Given the description of an element on the screen output the (x, y) to click on. 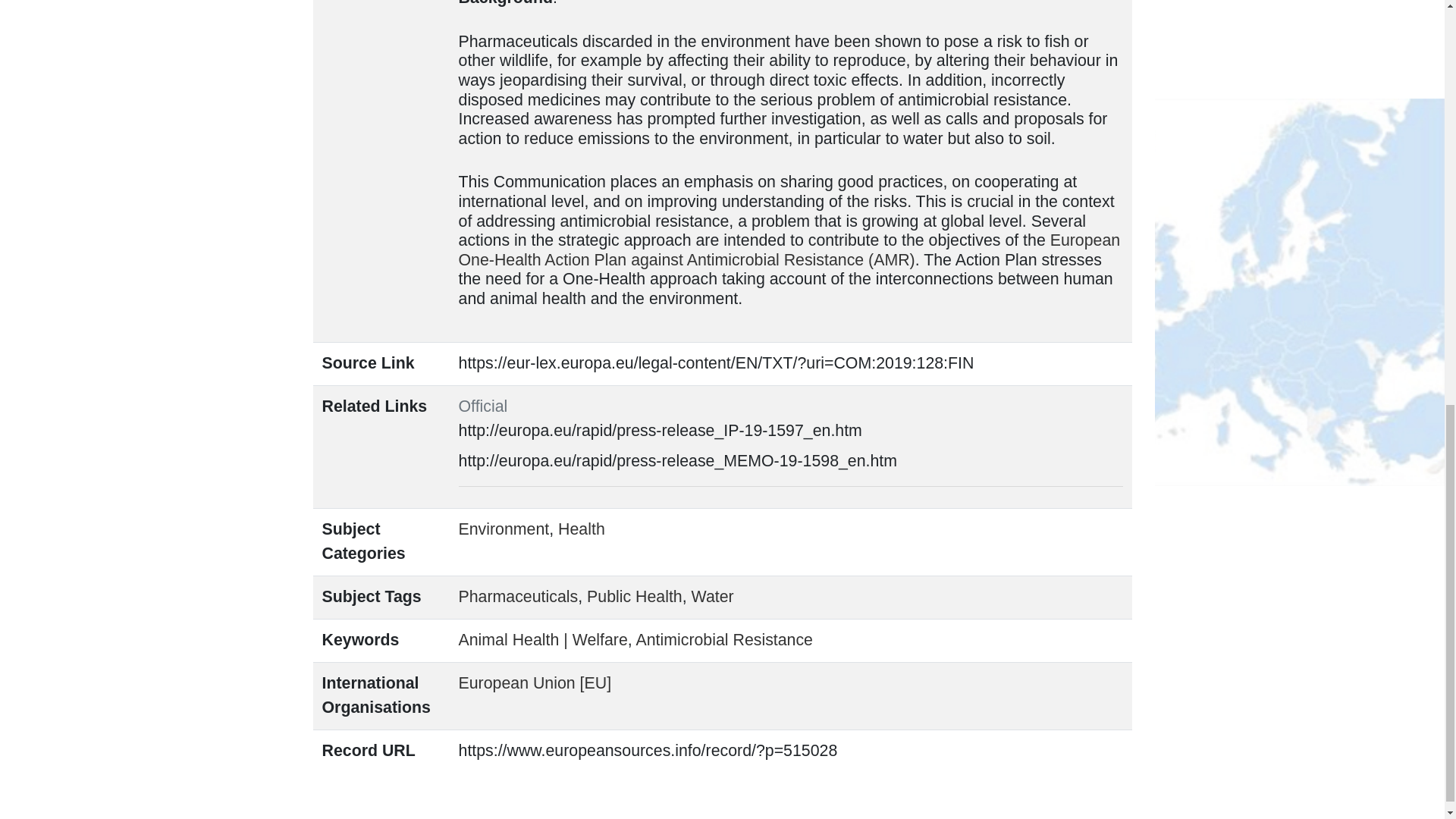
Public Health (634, 597)
Pharmaceuticals (518, 597)
Antimicrobial Resistance (723, 639)
Health (581, 529)
Environment (504, 529)
Water (712, 597)
